Given the description of an element on the screen output the (x, y) to click on. 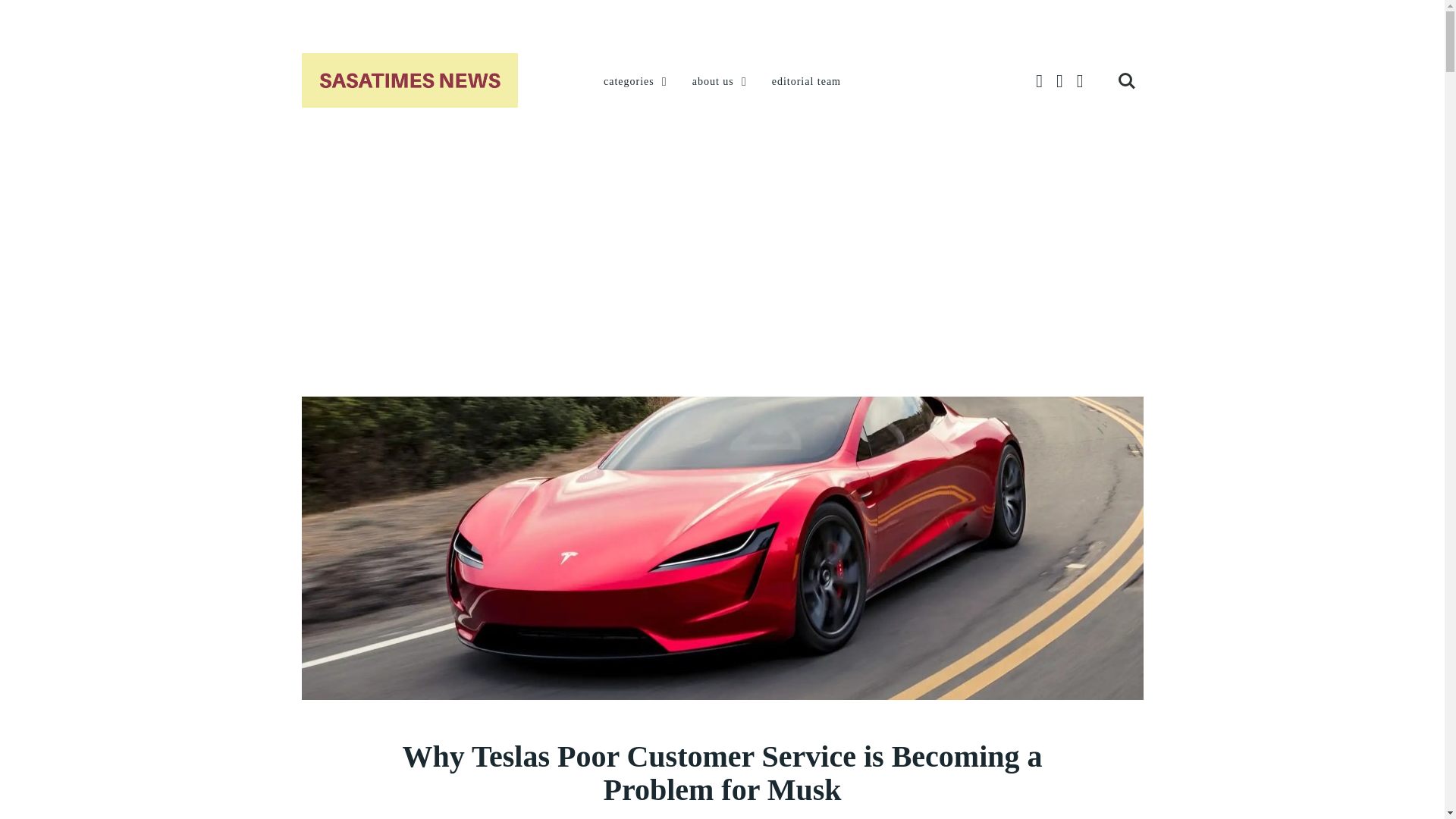
categories (636, 81)
about us (721, 81)
editorial team (806, 81)
